Given the description of an element on the screen output the (x, y) to click on. 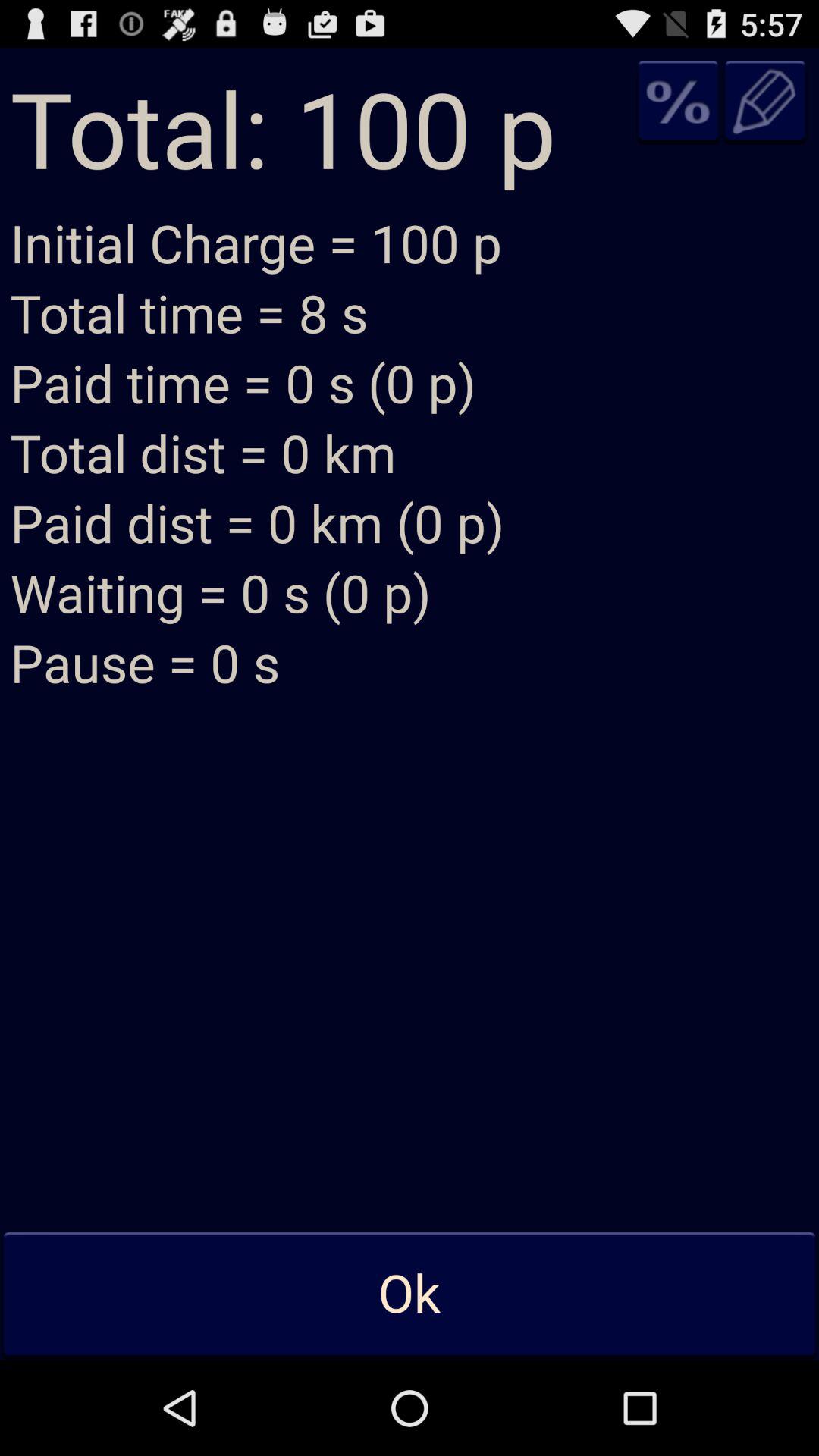
icon (677, 101)
